Given the description of an element on the screen output the (x, y) to click on. 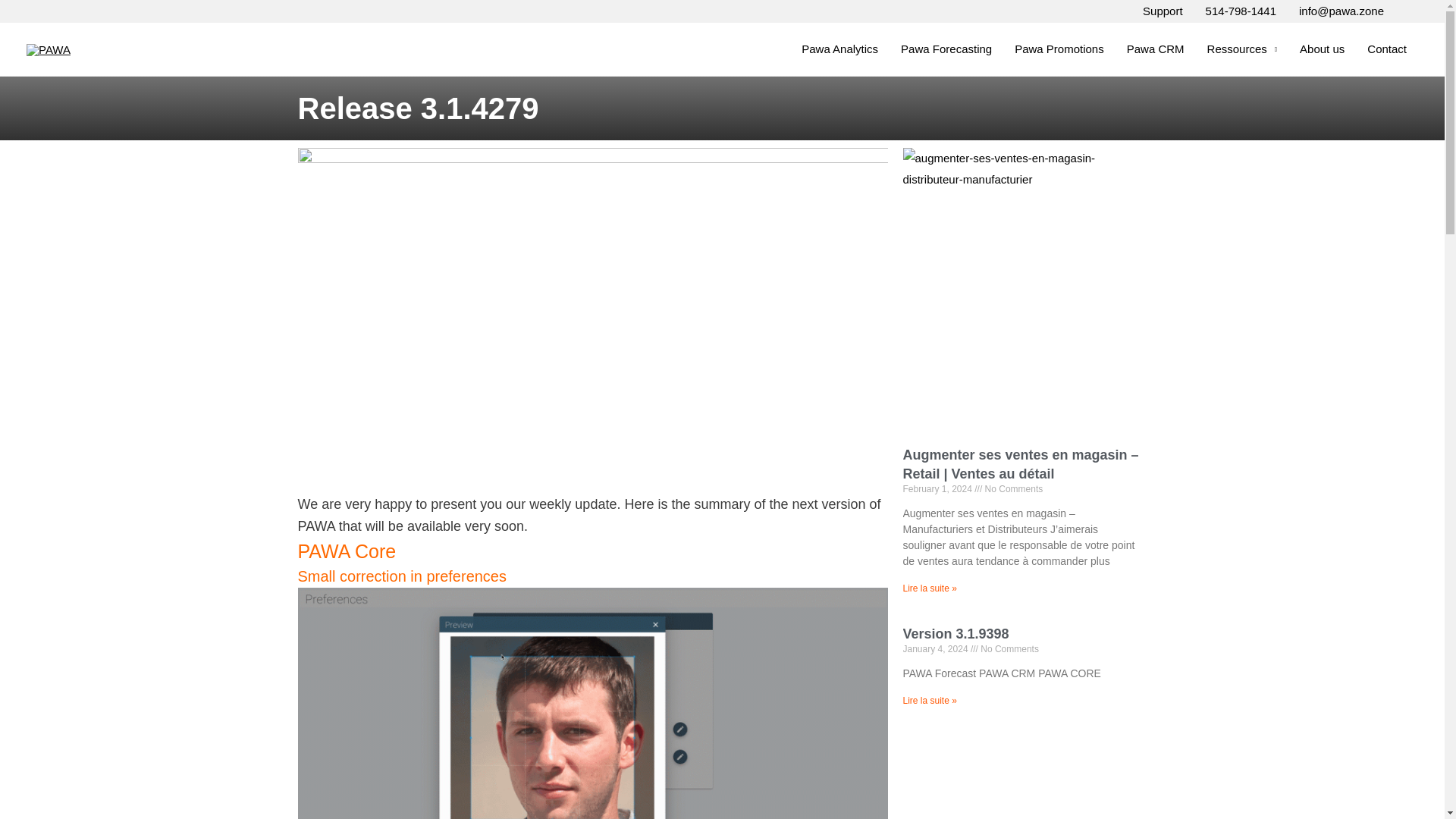
Contact (1386, 49)
Ressources (1241, 49)
Support (1162, 11)
About us (1321, 49)
514-798-1441 (1240, 11)
Pawa CRM (1155, 49)
Pawa Analytics (839, 49)
Version 3.1.9398 (955, 633)
Pawa Promotions (1059, 49)
Pawa Forecasting (946, 49)
